Given the description of an element on the screen output the (x, y) to click on. 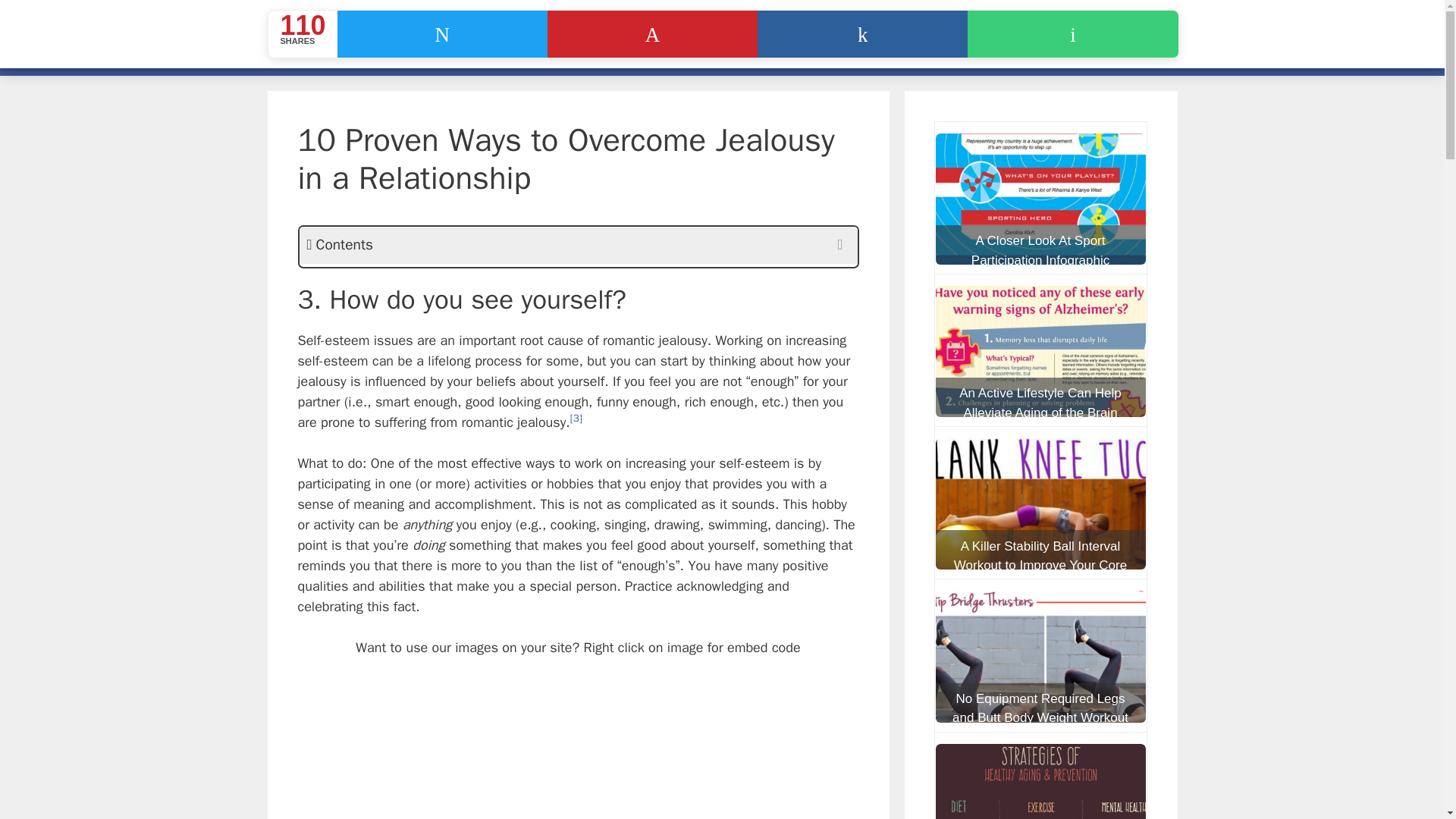
Fitness (461, 53)
Conditions (554, 53)
Advertisement (604, 738)
Nutrition (372, 53)
Home (296, 53)
